Given the description of an element on the screen output the (x, y) to click on. 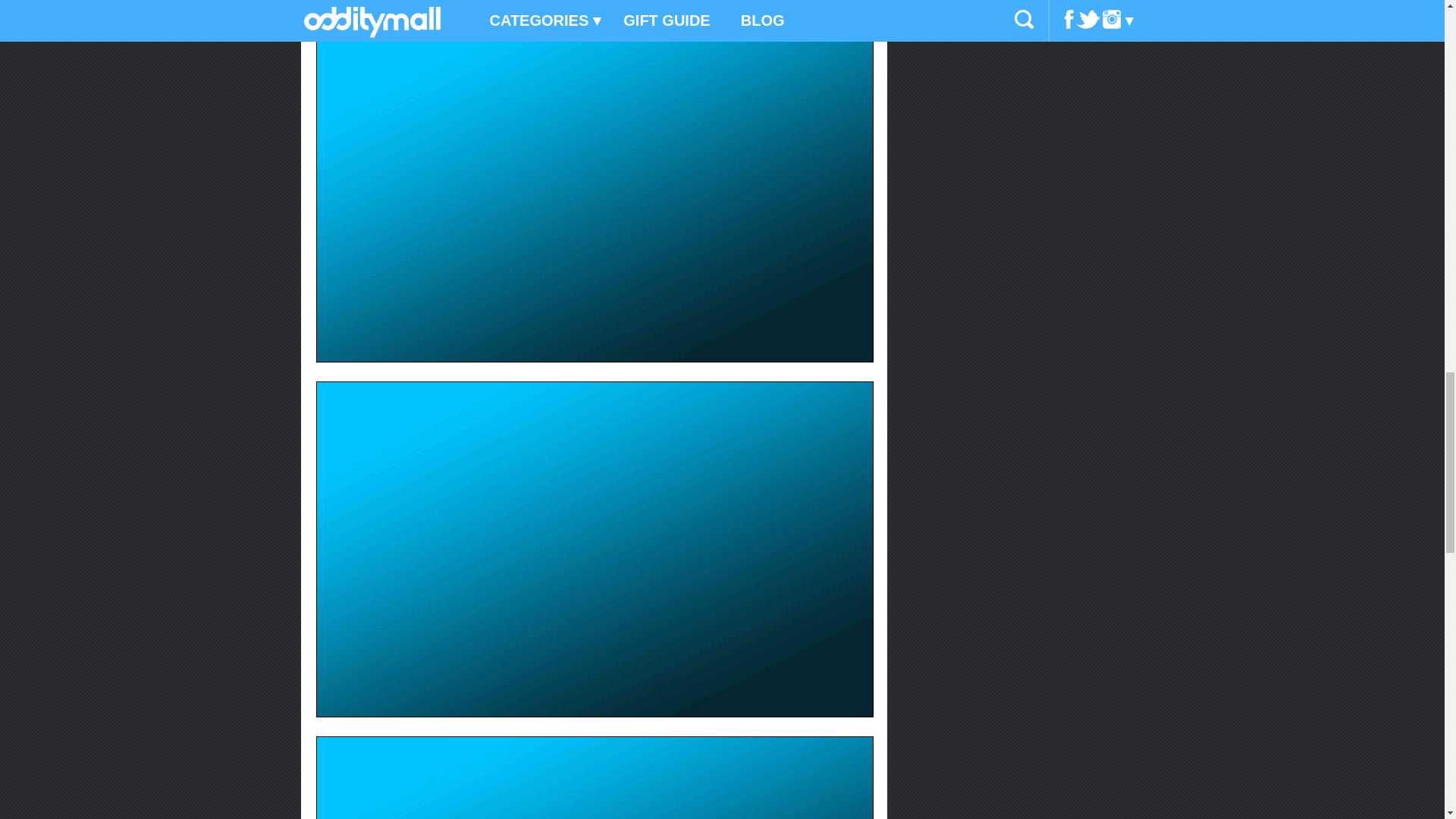
Stone Popcorn Seed Filter Bowl - Popcorn bowl kernel sifter (594, 777)
